Given the description of an element on the screen output the (x, y) to click on. 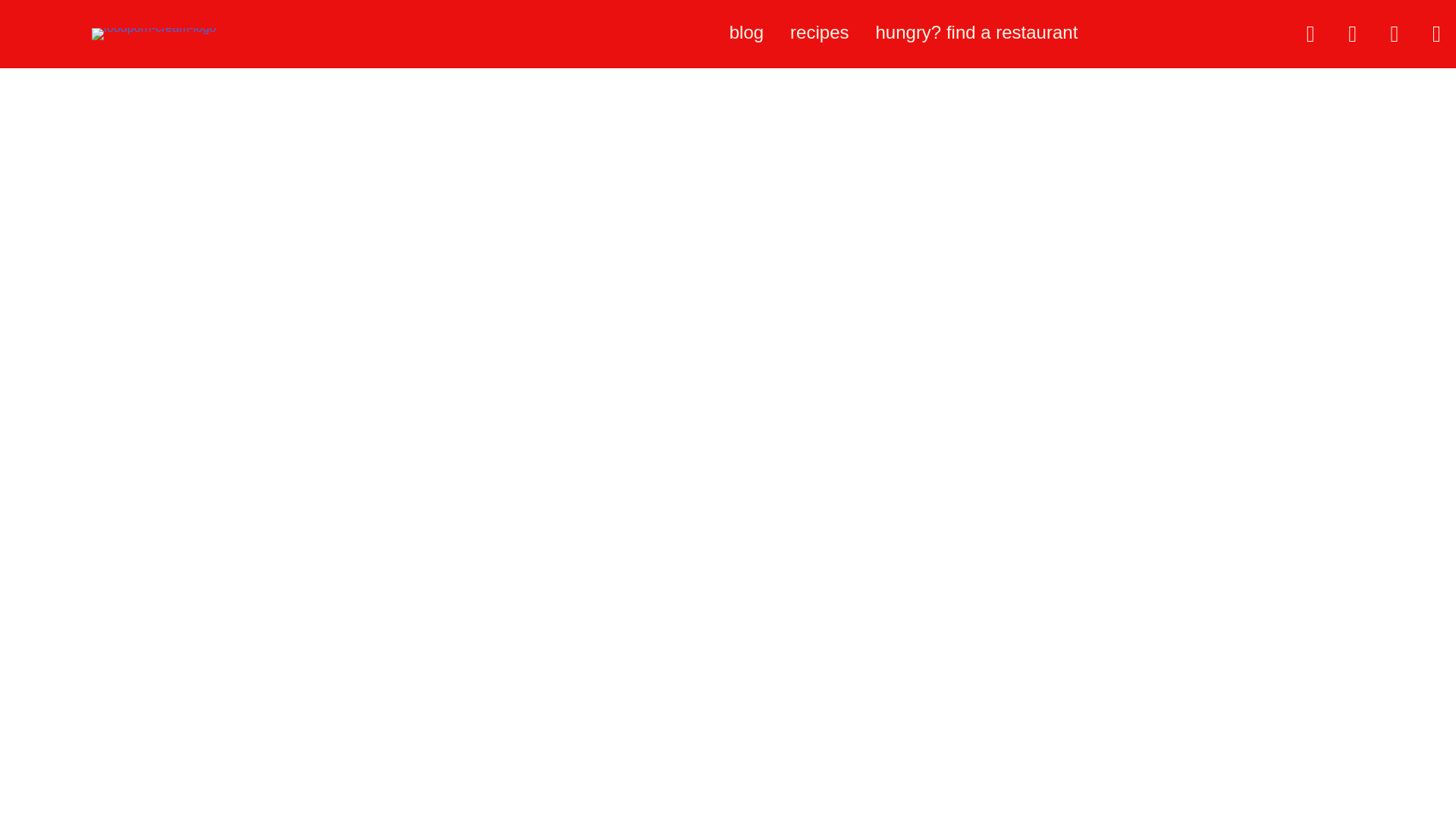
recipes (820, 33)
foodporn-cream-logo (153, 33)
hungry? find a restaurant (978, 33)
blog (748, 33)
